Given the description of an element on the screen output the (x, y) to click on. 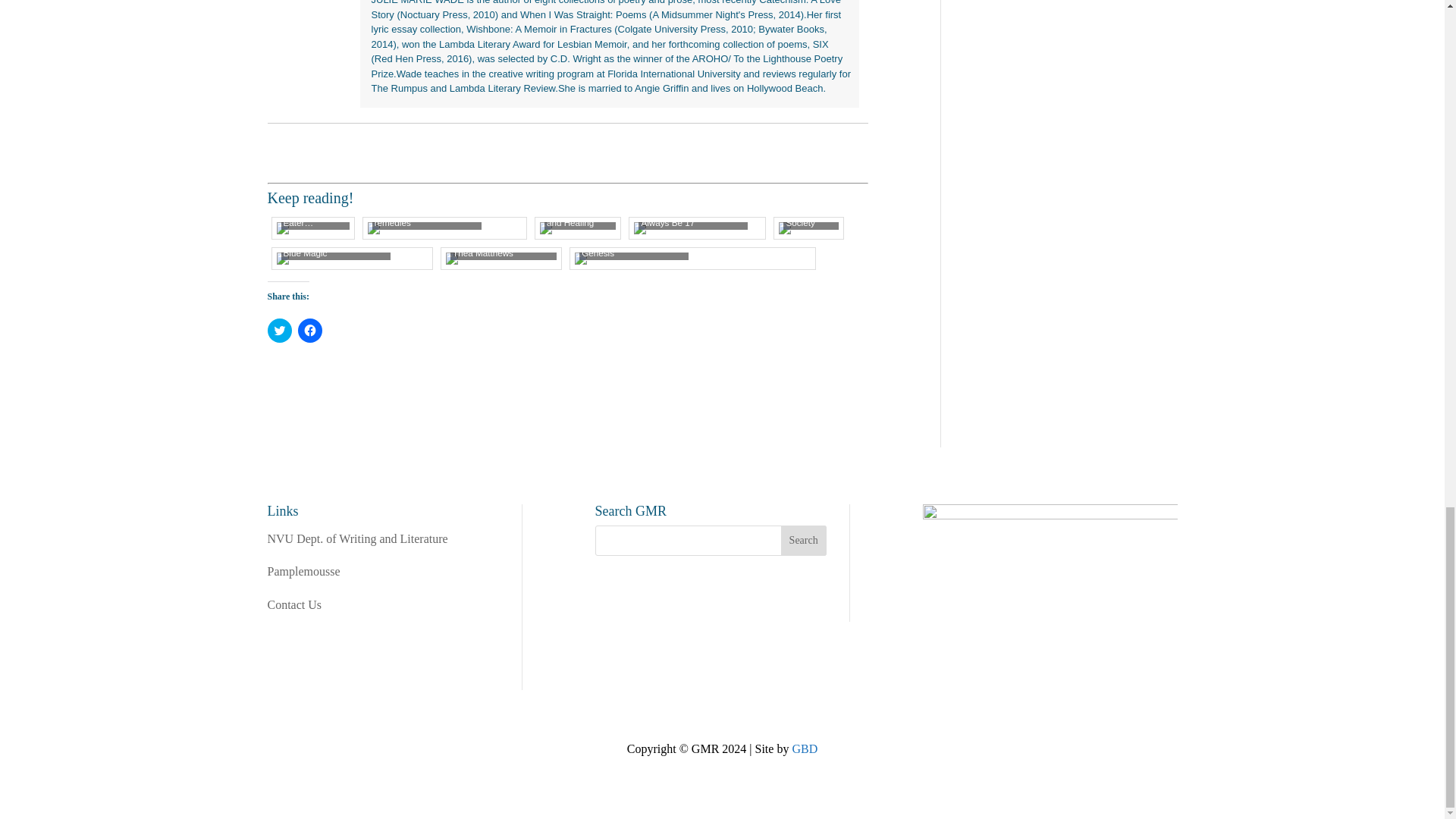
A Meeting of the Film Society (808, 227)
remedies (444, 227)
Click to share on Facebook (309, 330)
Click to share on Twitter (278, 330)
Heartbreak, Uncertainty, and Healing (577, 227)
Larry Levis Is an Alien That Knows God Will Always Be 17 (696, 227)
The Oppression Tables: Genesis (692, 258)
Blue Magic (352, 258)
Heartbreak, Uncertainty, and Healing (577, 227)
remedies (444, 227)
